Given the description of an element on the screen output the (x, y) to click on. 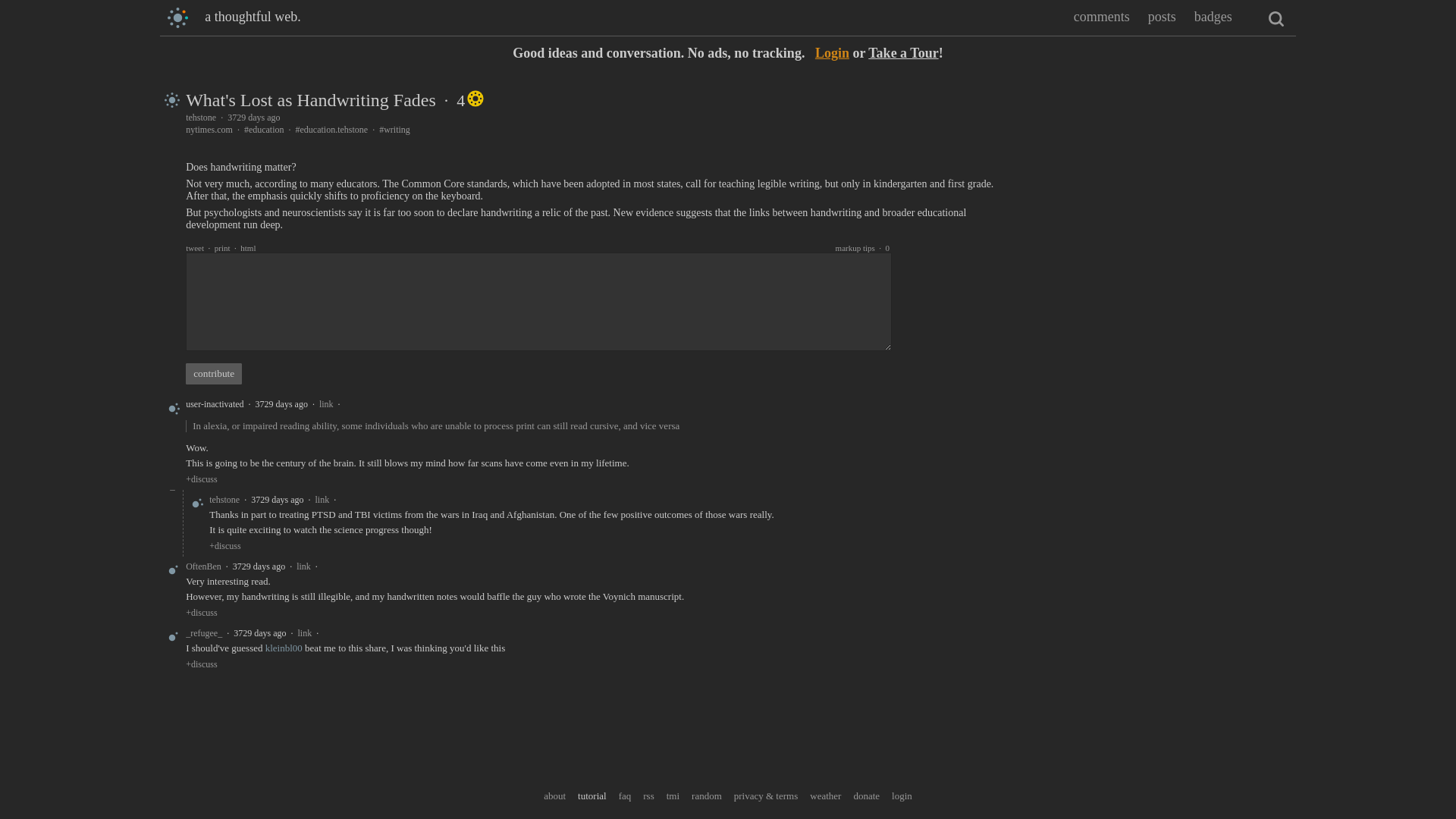
tehstone (200, 117)
contribute (213, 373)
searchbox (1276, 18)
link (325, 403)
Take a Tour (902, 52)
nytimes.com (209, 129)
contribute (213, 373)
tweet (194, 247)
What's Lost as Handwriting Fades (310, 99)
Login (831, 52)
